Given the description of an element on the screen output the (x, y) to click on. 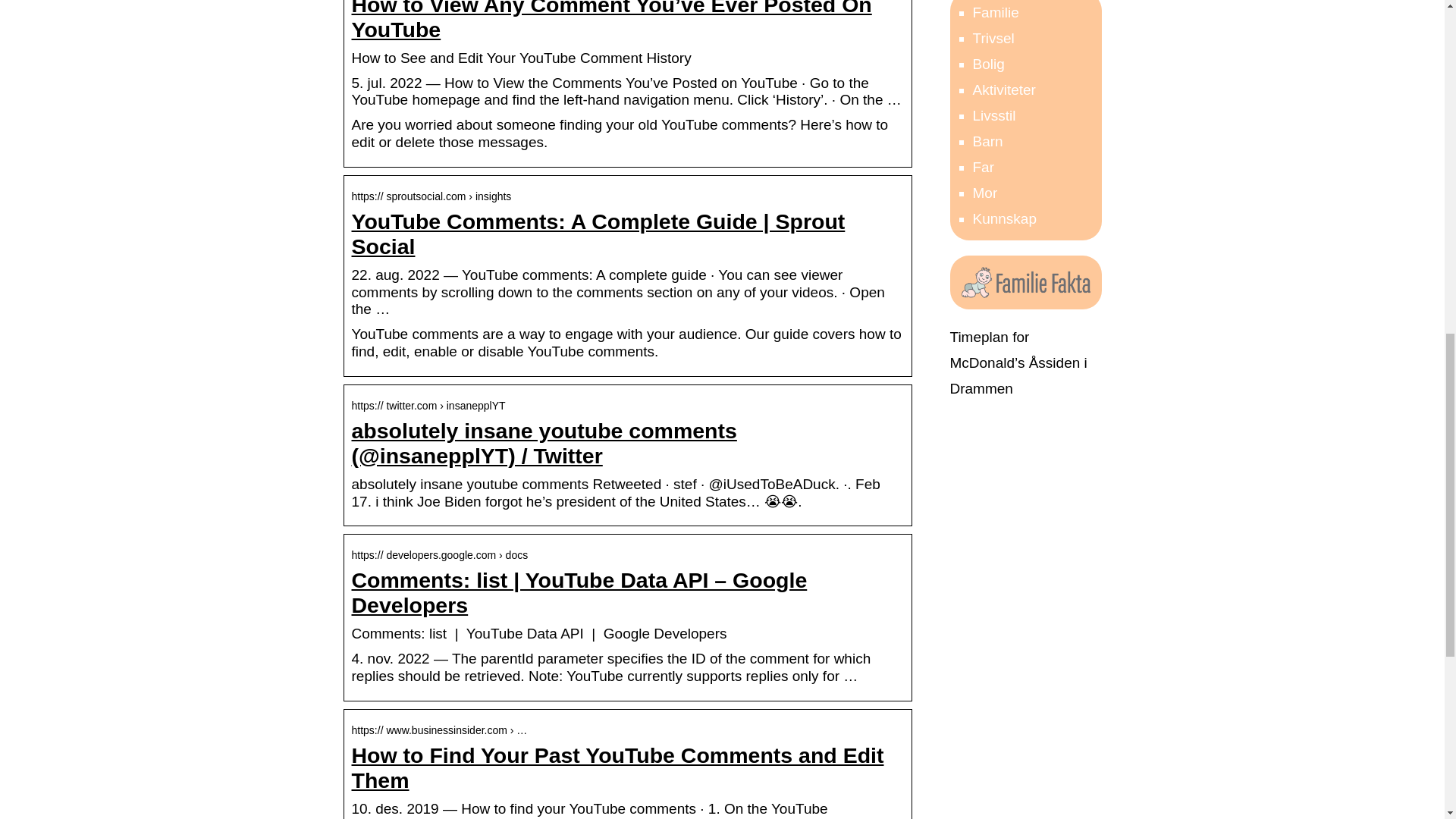
Aktiviteter (1003, 89)
Trivsel (992, 37)
Livsstil (993, 115)
Bolig (988, 64)
Familie (994, 12)
Far (983, 166)
Barn (987, 141)
Kunnskap (1004, 218)
Mor (984, 192)
